Given the description of an element on the screen output the (x, y) to click on. 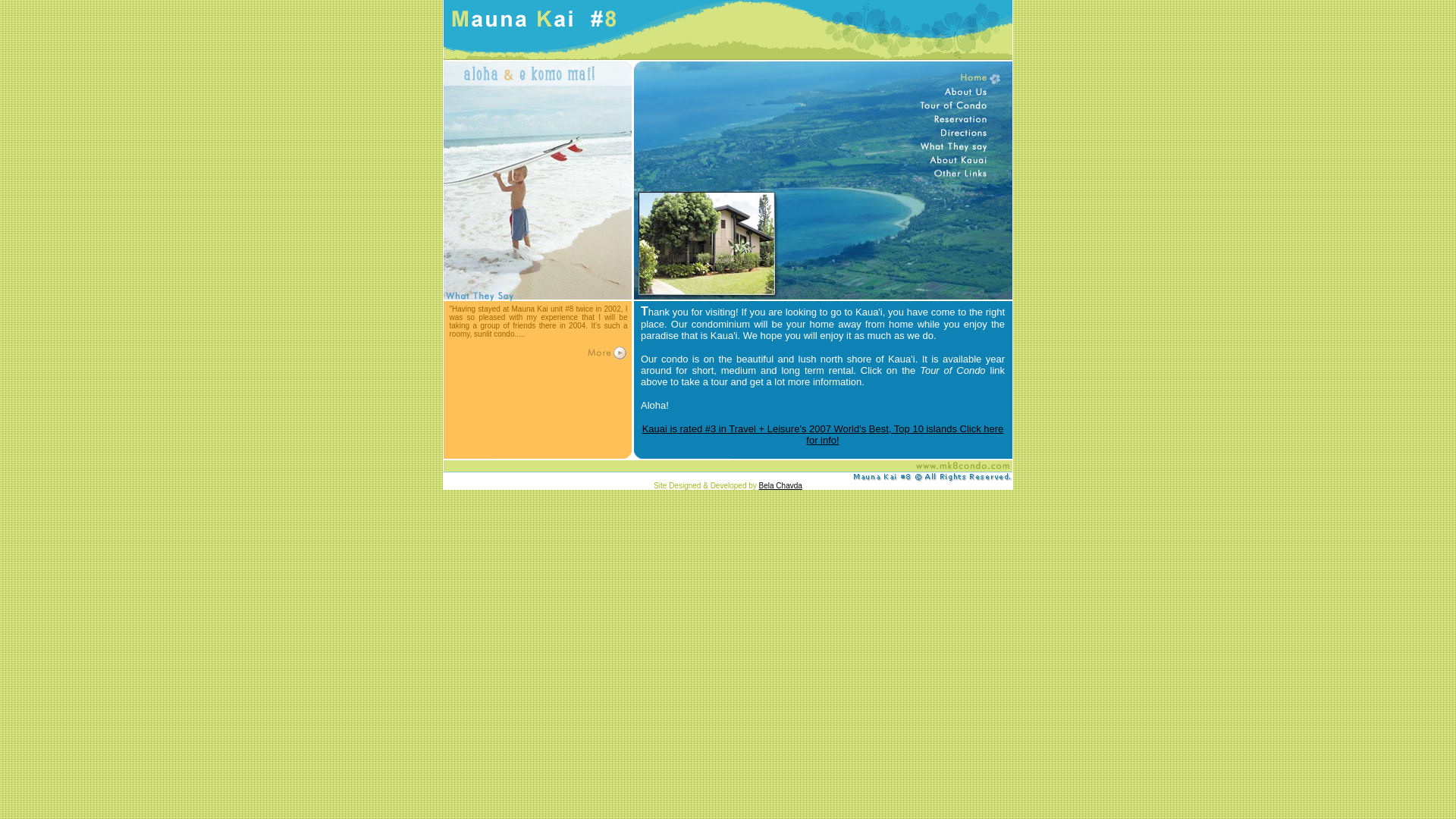
Bela Chavda (780, 485)
